Given the description of an element on the screen output the (x, y) to click on. 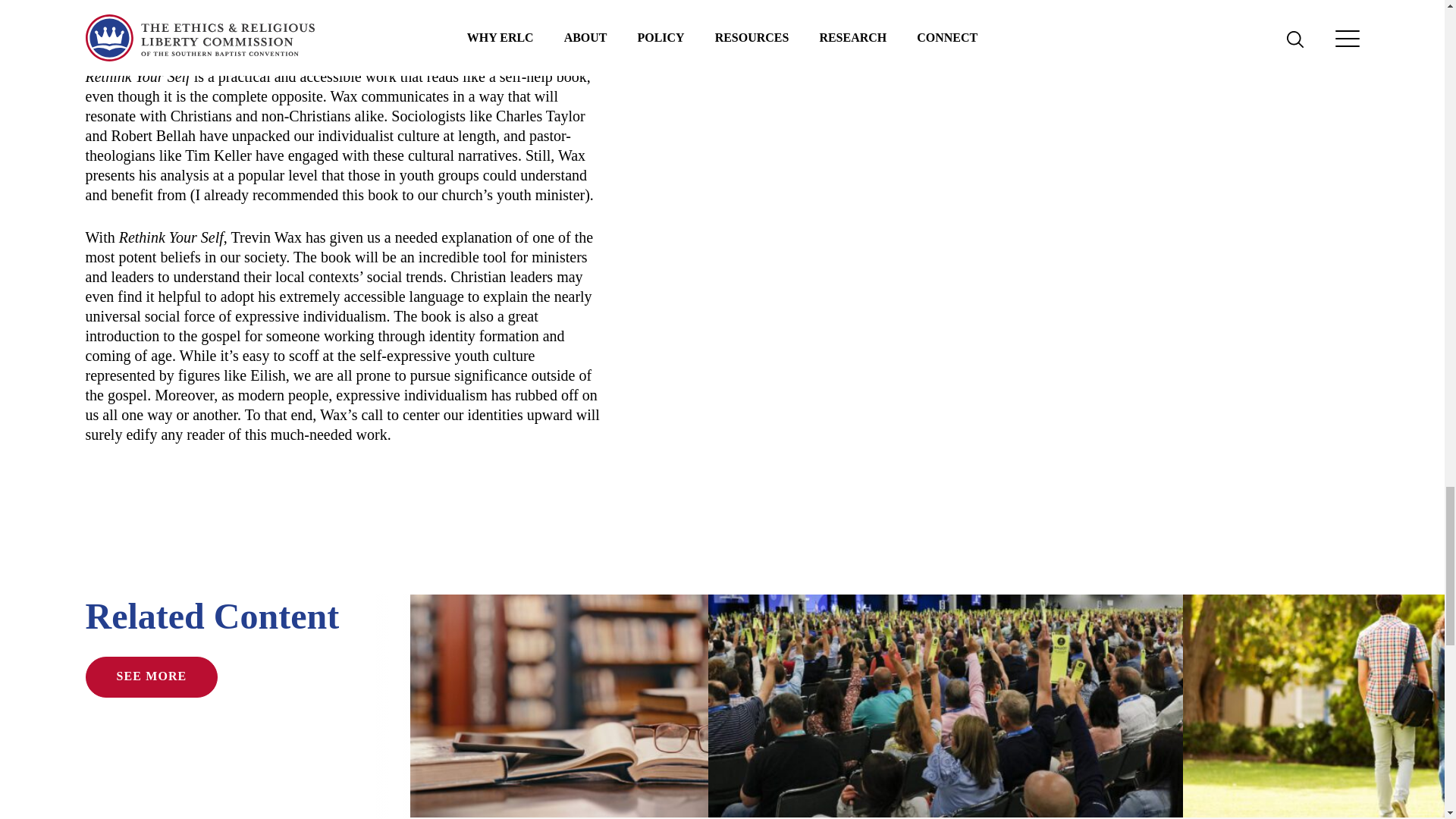
SEE MORE (150, 676)
